Given the description of an element on the screen output the (x, y) to click on. 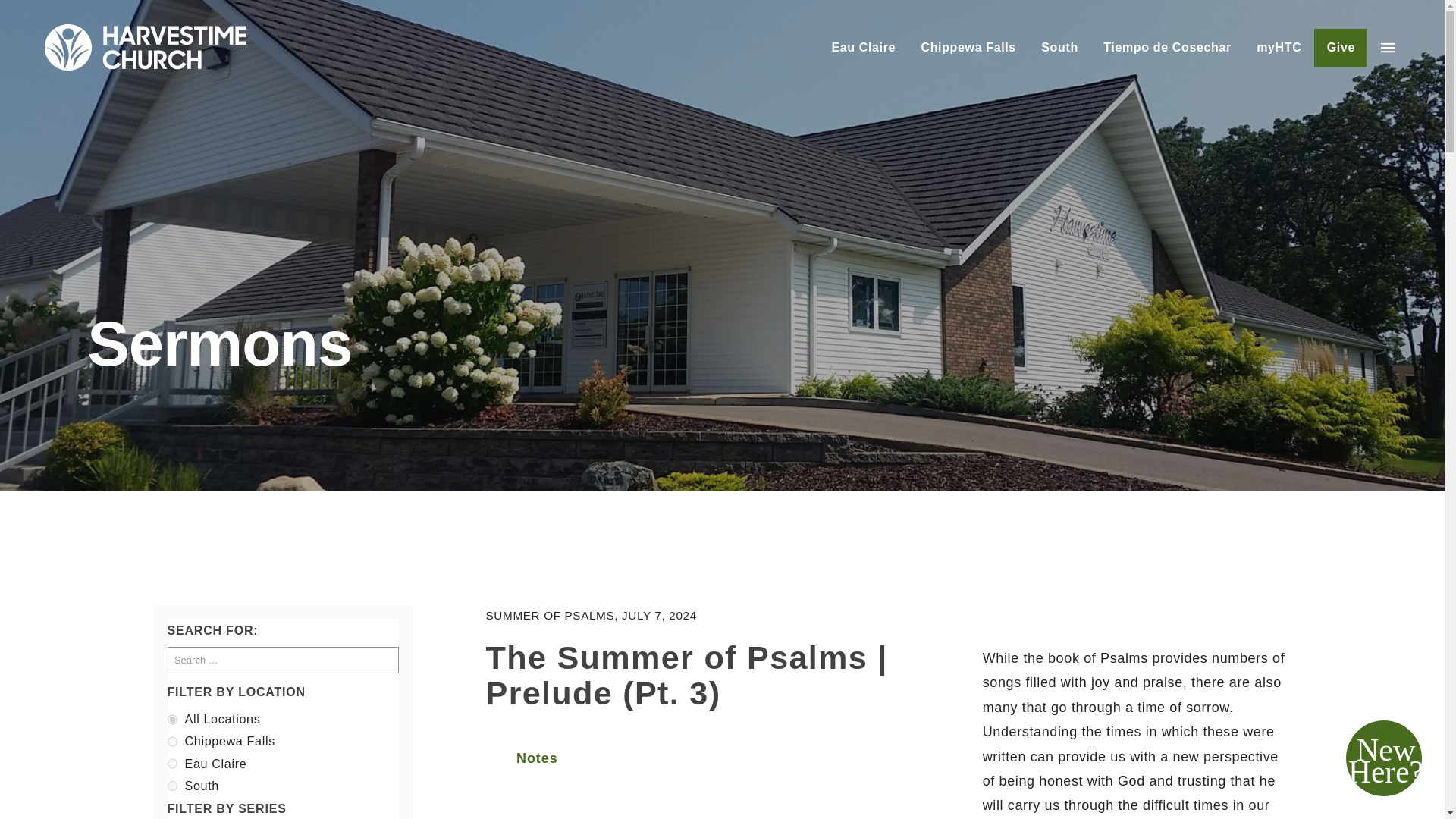
myHTC (1278, 47)
Notes (521, 758)
Tiempo de Cosechar (1166, 47)
South (1058, 47)
Eau Claire (862, 47)
Give (1341, 47)
Chippewa Falls (967, 47)
